Given the description of an element on the screen output the (x, y) to click on. 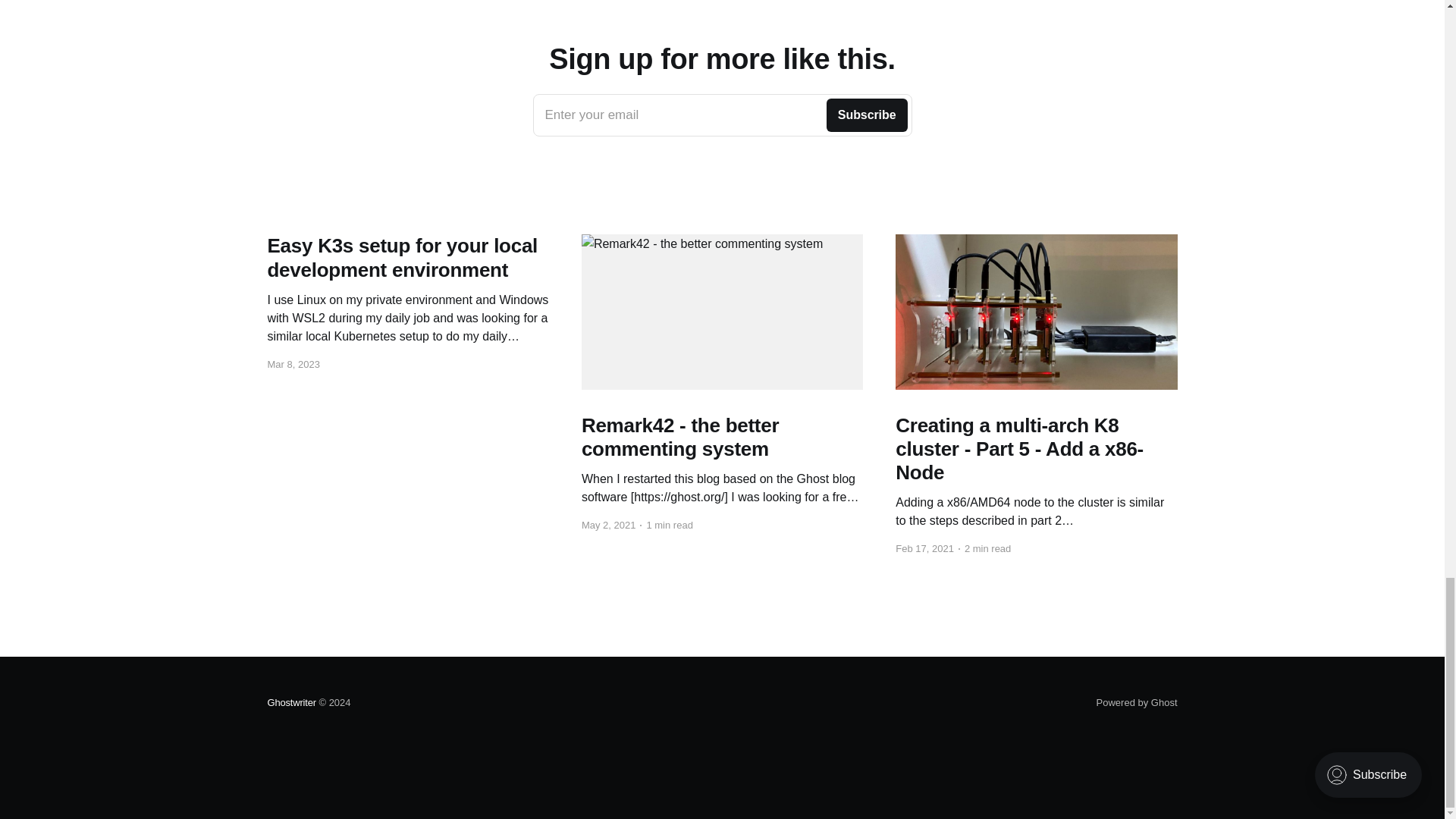
Powered by Ghost (1136, 702)
Ghostwriter (721, 115)
